Given the description of an element on the screen output the (x, y) to click on. 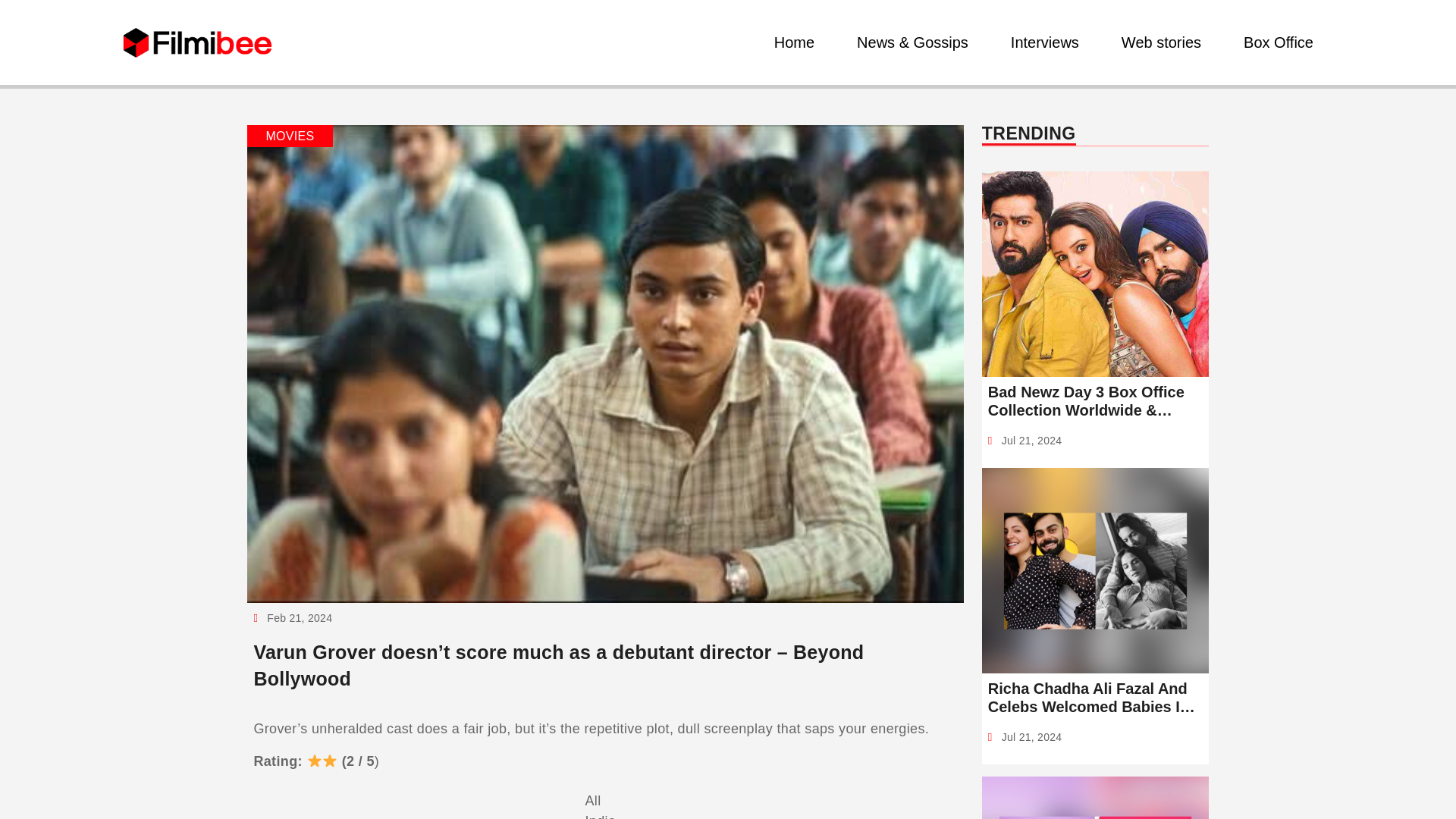
Home (794, 42)
Richa Chadha Ali Fazal And Celebs Welcomed Babies In 2024 (1095, 697)
Box Office (1278, 42)
Interviews (1044, 42)
Web stories (1161, 42)
